Given the description of an element on the screen output the (x, y) to click on. 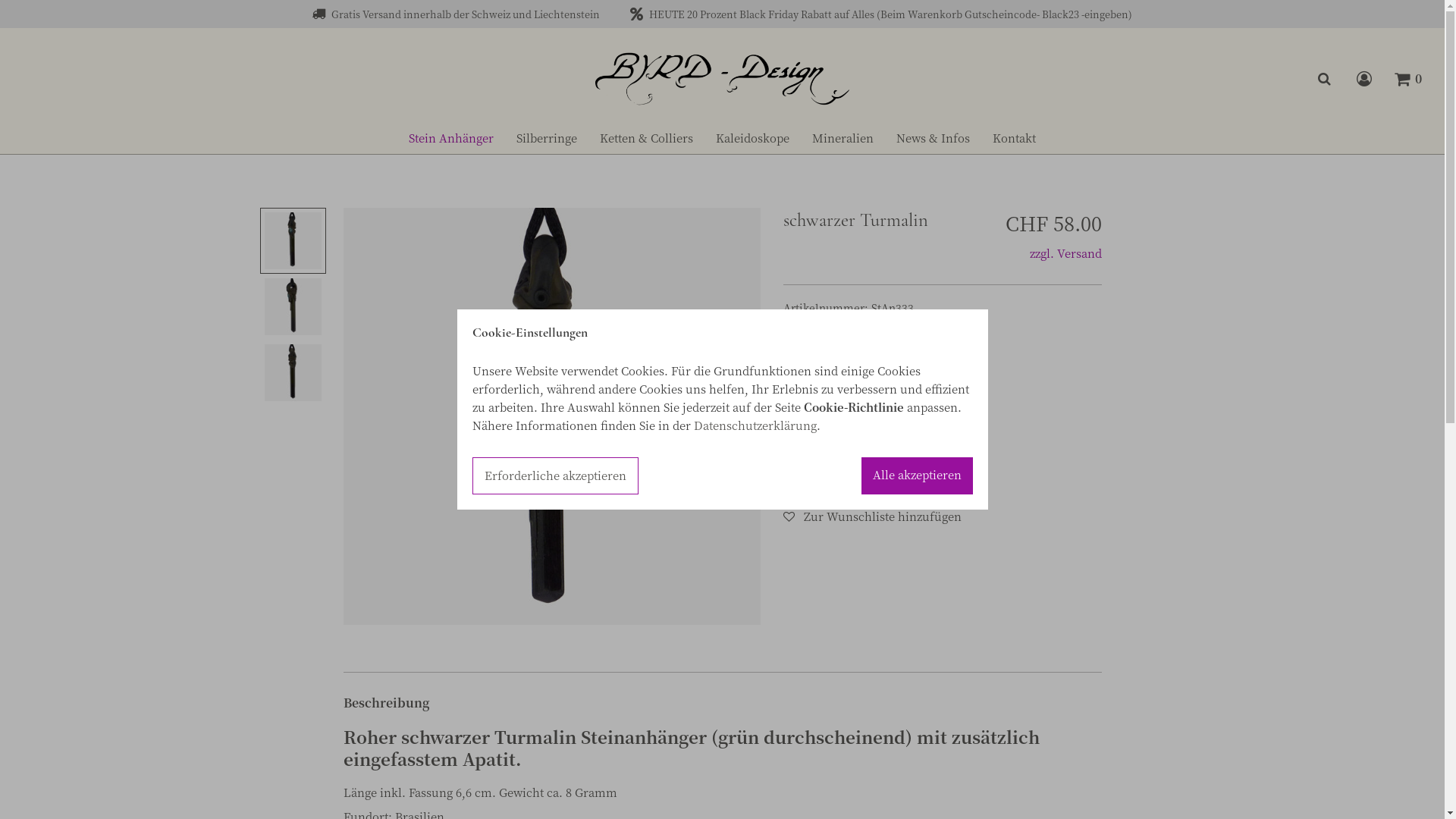
zzgl. Versand Element type: text (1065, 252)
Suche Element type: text (1324, 78)
Mineralien Element type: text (842, 137)
Kontakt Element type: text (1013, 137)
Ketten & Colliers Element type: text (646, 137)
Erforderliche akzeptieren Element type: text (554, 475)
Kaleidoskope Element type: text (752, 137)
In den Warenkorb Element type: text (853, 474)
News & Infos Element type: text (932, 137)
Warenkorb anzeigen. Sie haben 0 Artikel im Warenkorb.
0 Element type: text (1407, 78)
BYRD-Design Element type: hover (722, 76)
Silberringe Element type: text (546, 137)
Alle akzeptieren Element type: text (916, 475)
